Given the description of an element on the screen output the (x, y) to click on. 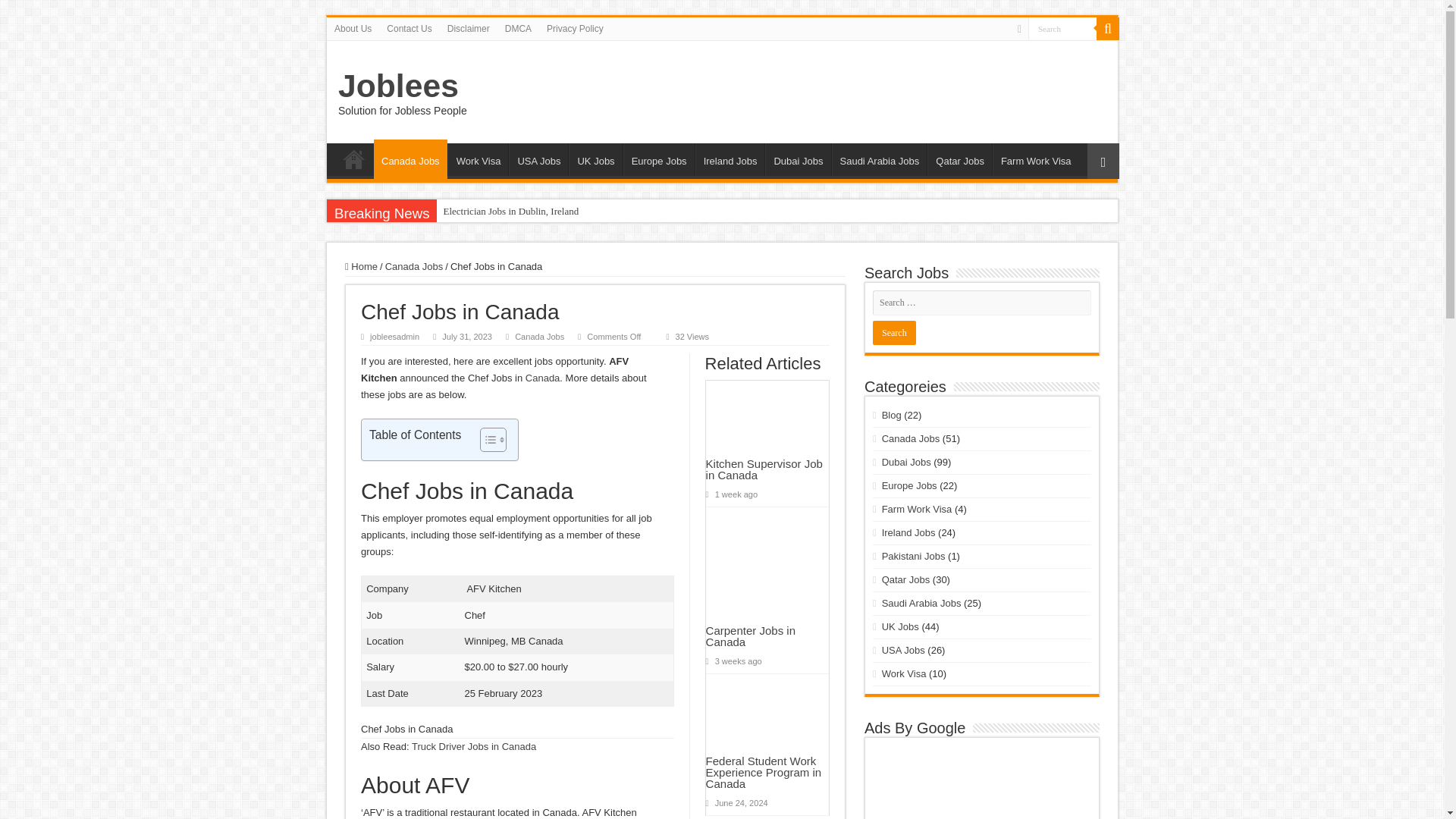
UK Jobs (595, 159)
Canada Jobs (410, 159)
Search (893, 332)
Privacy Policy (574, 28)
Europe Jobs (658, 159)
Contact Us (408, 28)
Joblees (397, 85)
Canada Jobs (414, 266)
Home (361, 266)
Saudi Arabia Jobs (878, 159)
